Given the description of an element on the screen output the (x, y) to click on. 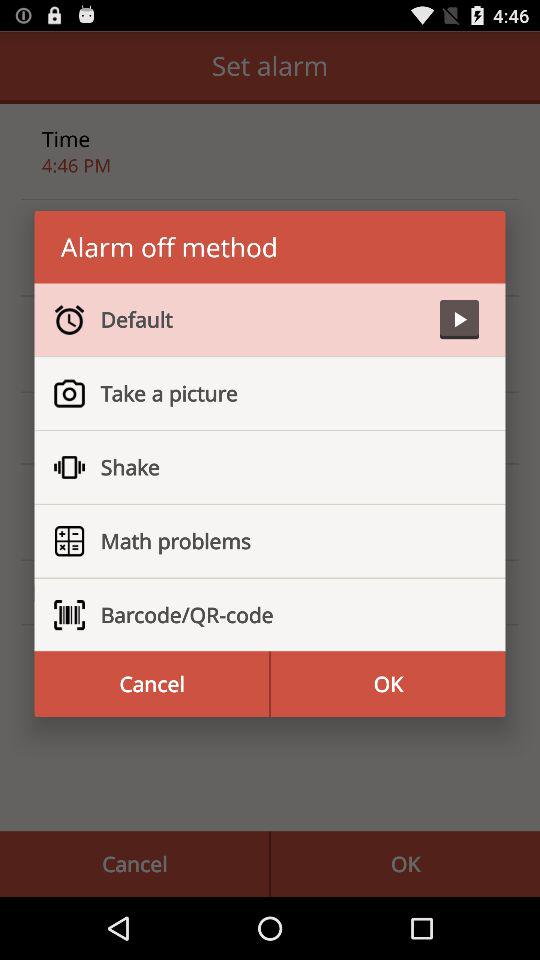
select the ok button (387, 683)
